Given the description of an element on the screen output the (x, y) to click on. 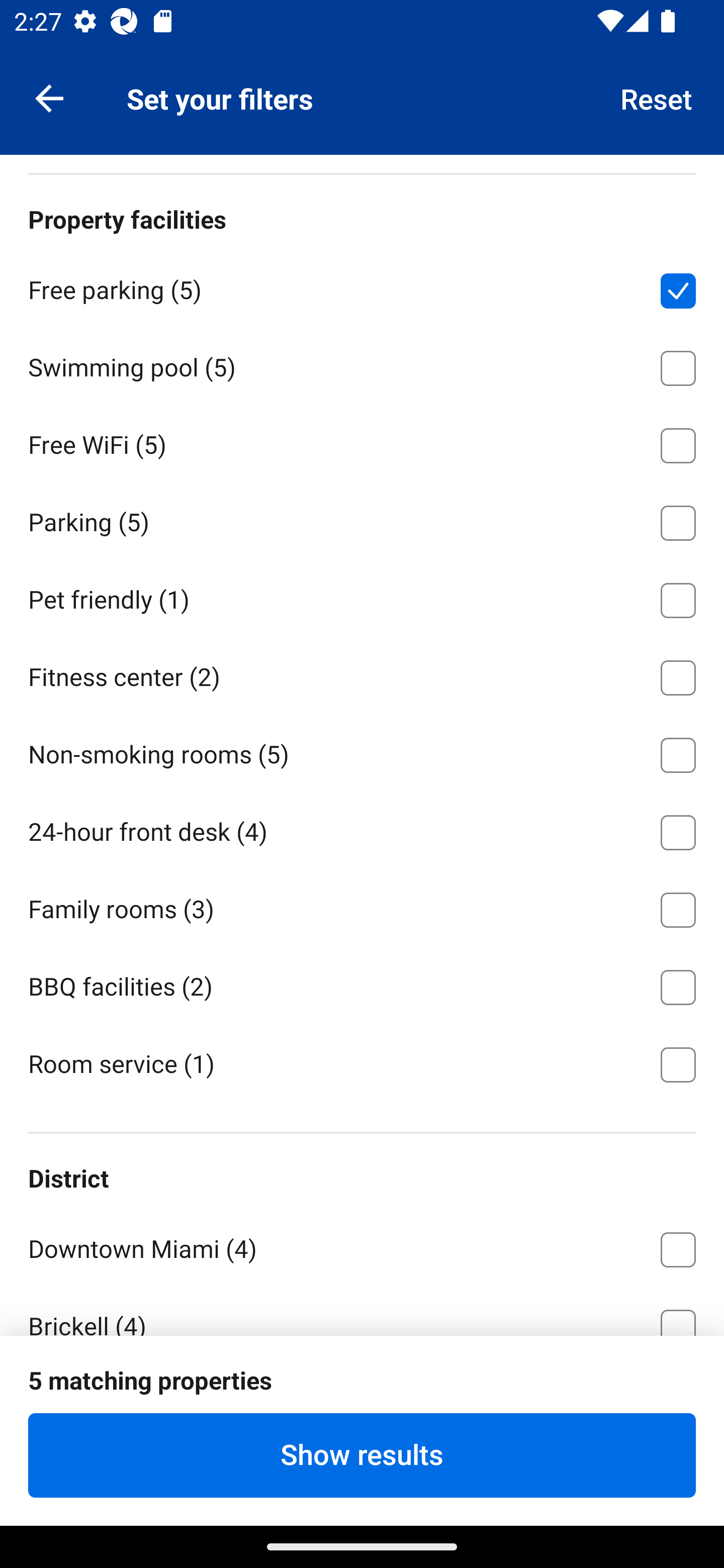
Navigate up (49, 97)
Reset (656, 97)
Free parking ⁦(5) (361, 287)
Swimming pool ⁦(5) (361, 364)
Free WiFi ⁦(5) (361, 441)
Parking ⁦(5) (361, 519)
Pet friendly ⁦(1) (361, 596)
Fitness center ⁦(2) (361, 674)
Non-smoking rooms ⁦(5) (361, 751)
24-hour front desk ⁦(4) (361, 829)
Family rooms ⁦(3) (361, 906)
BBQ facilities ⁦(2) (361, 983)
Room service ⁦(1) (361, 1062)
Downtown Miami ⁦(4) (361, 1246)
Brickell ⁦(4) (361, 1310)
Guests' favorite area ⁦(4) (361, 1400)
Show results (361, 1454)
